Given the description of an element on the screen output the (x, y) to click on. 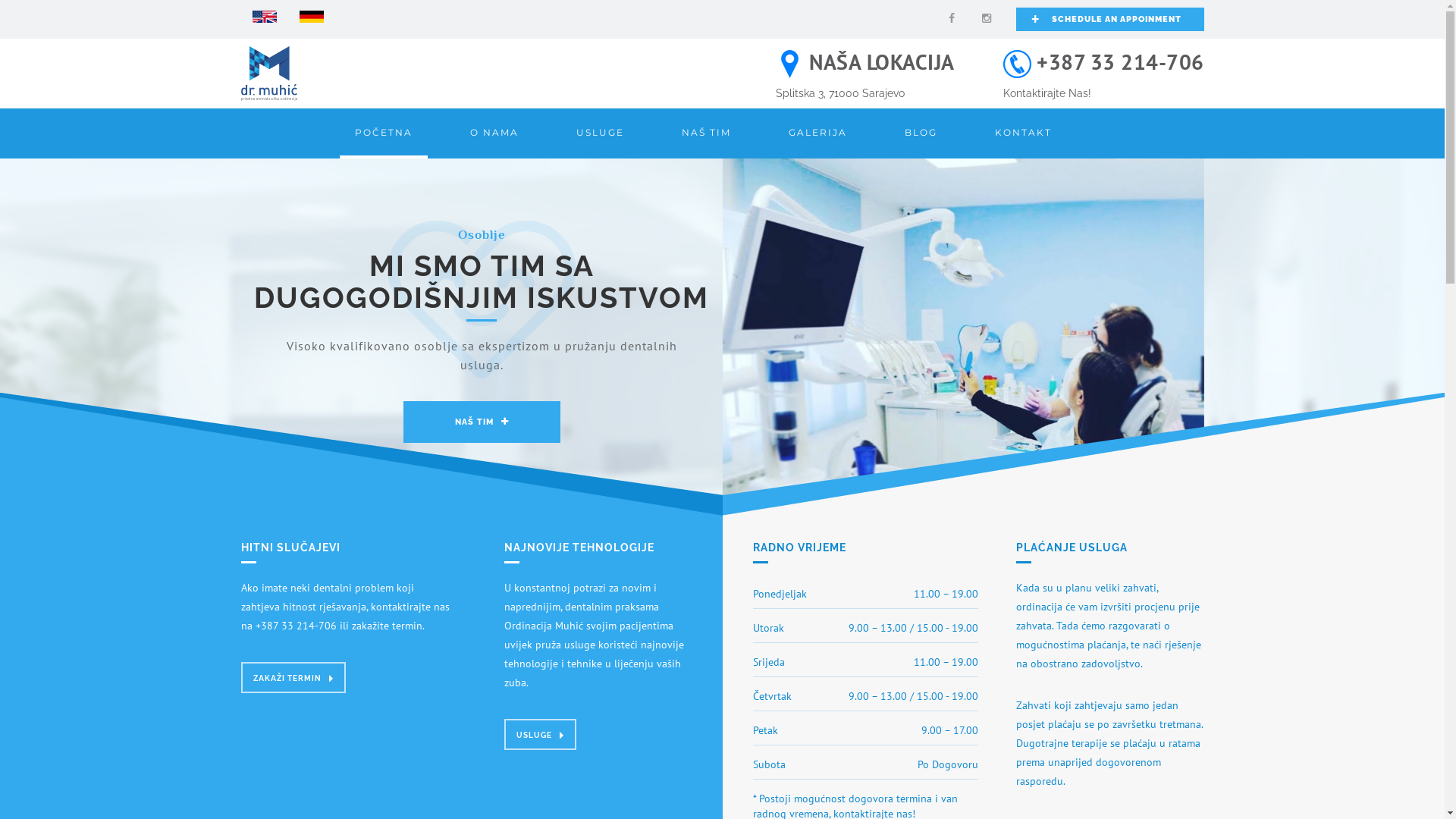
+
SCHEDULE AN APPOINMENT Element type: text (1110, 19)
English Element type: hover (263, 14)
Facebook Element type: hover (950, 18)
Instagram Element type: hover (985, 18)
Logo Element type: hover (269, 72)
BLOG Element type: text (919, 133)
O NAMA Element type: text (494, 133)
KONTAKT Element type: text (1022, 133)
GALERIJA Element type: text (817, 133)
USLUGE Element type: text (600, 133)
USLUGE Element type: text (540, 738)
German Element type: hover (310, 14)
